Given the description of an element on the screen output the (x, y) to click on. 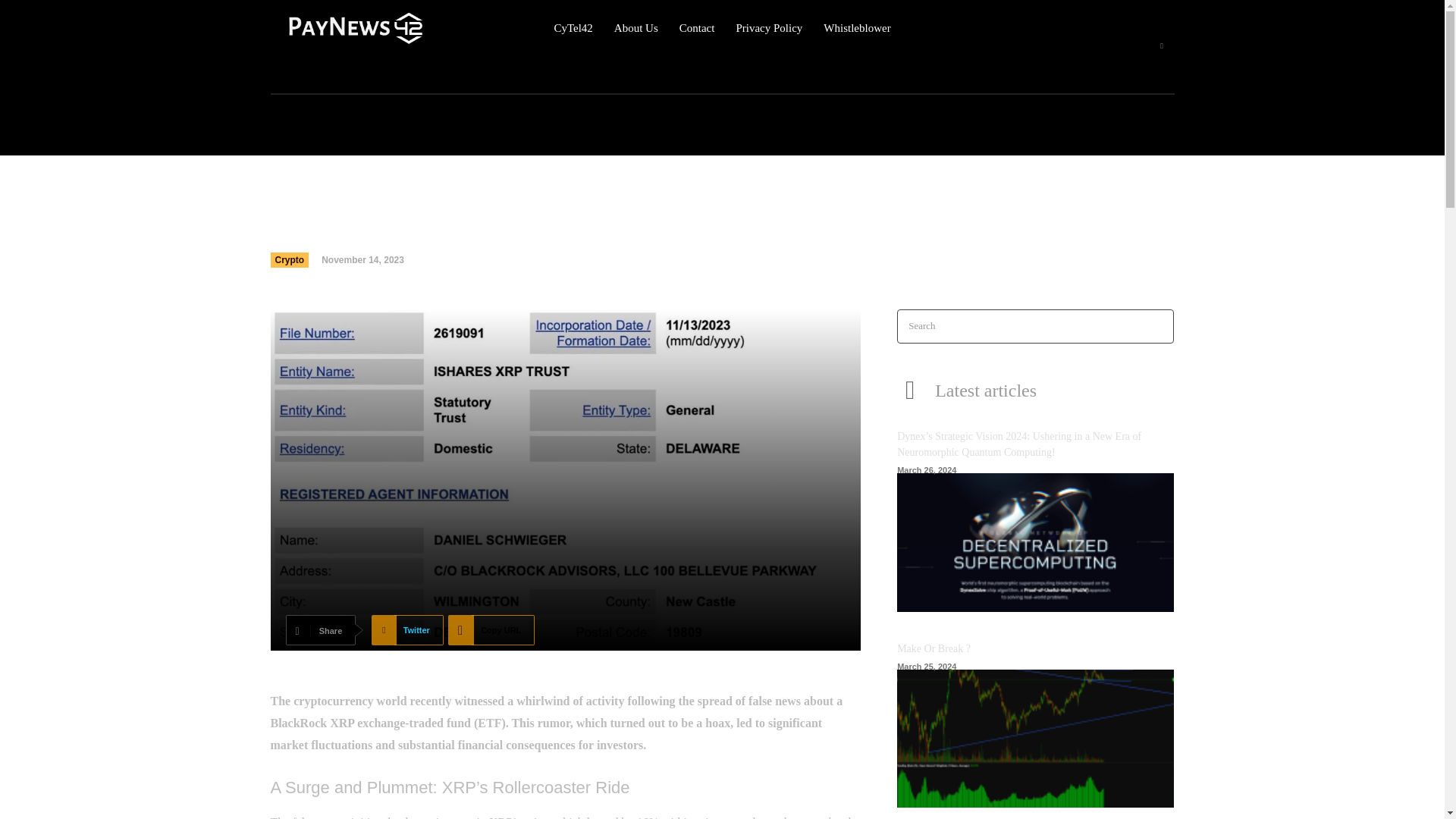
Contact (696, 28)
Whistleblower (856, 28)
Make Or Break ? (933, 648)
Twitter (407, 630)
Twitter (1162, 46)
Copy URL (491, 630)
Make Or Break ? (933, 648)
Privacy Policy (768, 28)
Copy URL (491, 630)
Crypto (288, 259)
About Us (636, 28)
Make Or Break ? (1034, 738)
CyTel42 (572, 28)
Twitter (407, 630)
